Given the description of an element on the screen output the (x, y) to click on. 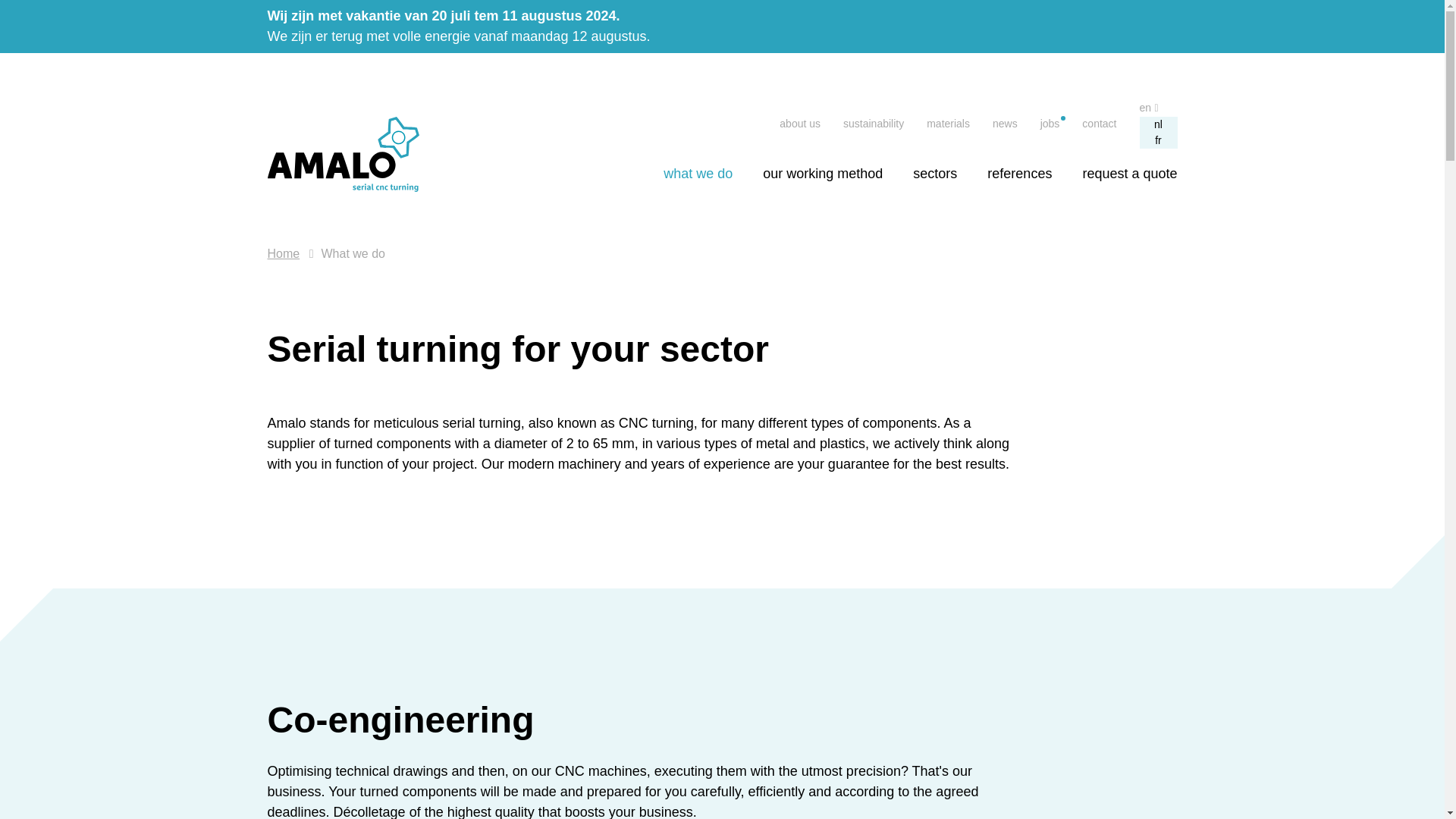
fr (1157, 140)
Home (282, 253)
Sectors (934, 173)
nl (1157, 124)
Sustainability (873, 123)
Contact (1098, 123)
News (1004, 123)
sectors (934, 173)
jobs (1050, 123)
our working method (822, 173)
